Given the description of an element on the screen output the (x, y) to click on. 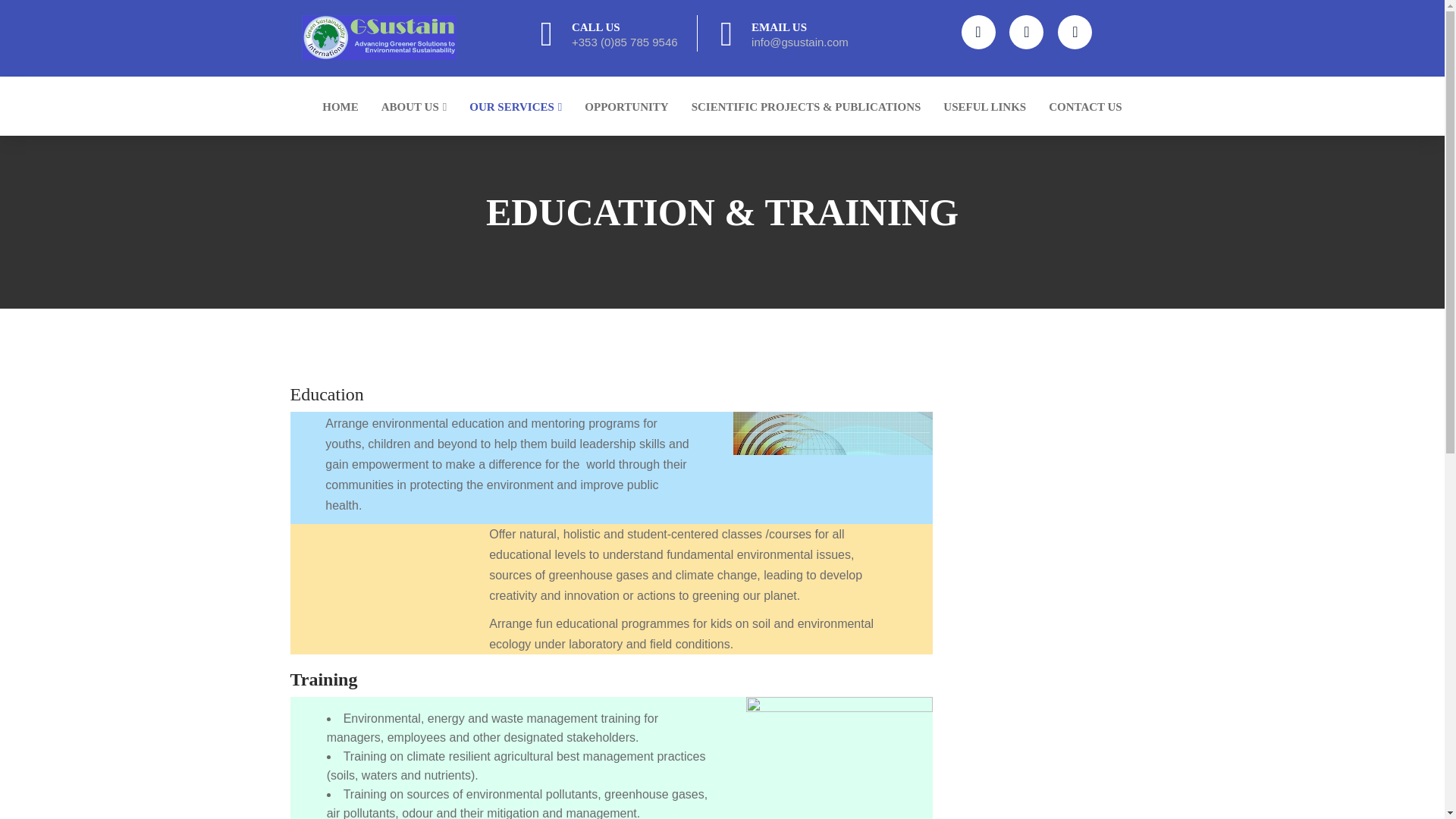
ABOUT US (413, 106)
HOME (340, 106)
OPPORTUNITY (626, 106)
OUR SERVICES (515, 106)
CONTACT US (1085, 106)
USEFUL LINKS (983, 106)
